Given the description of an element on the screen output the (x, y) to click on. 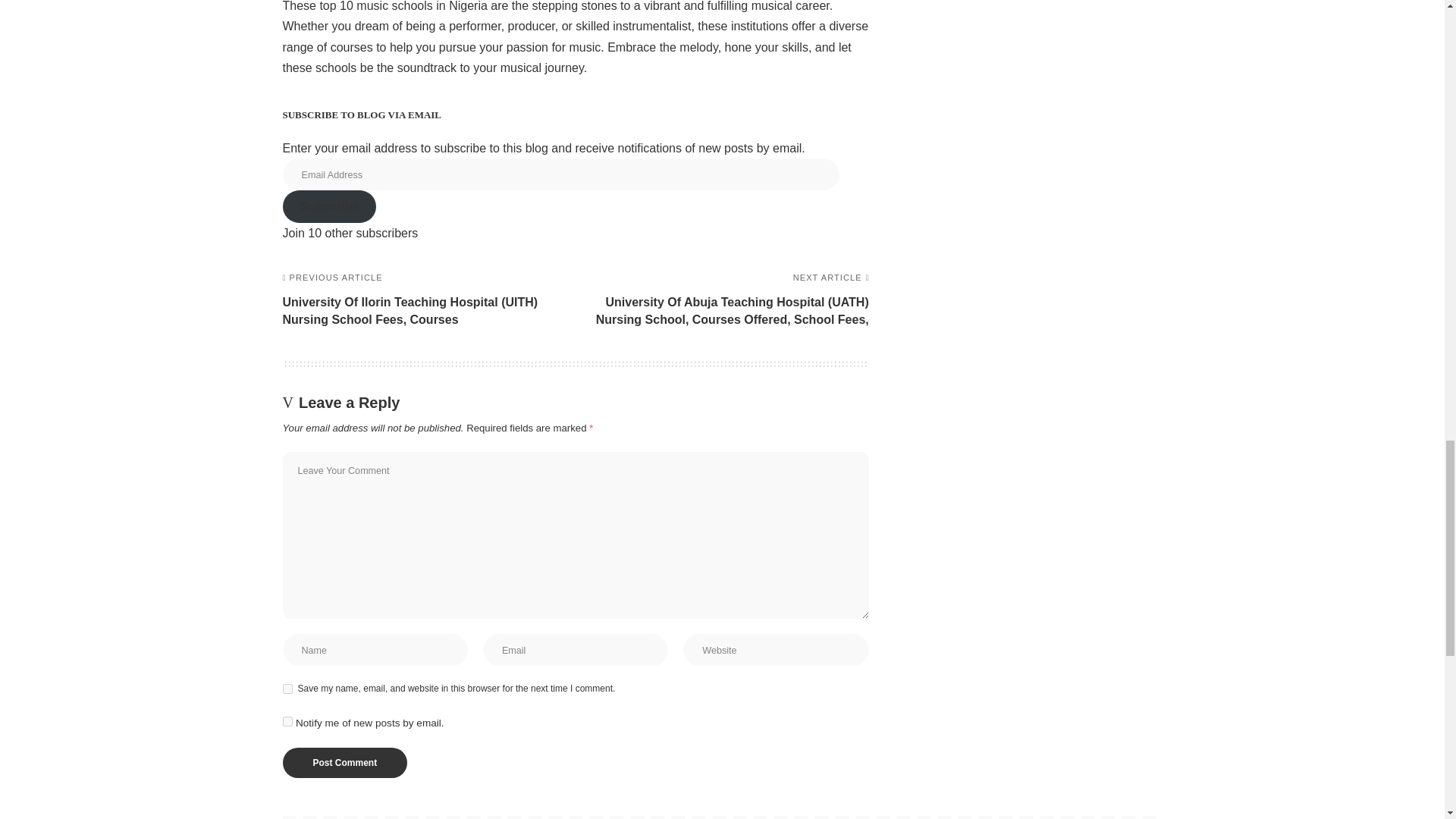
Post Comment (344, 762)
yes (287, 688)
subscribe (287, 721)
